Given the description of an element on the screen output the (x, y) to click on. 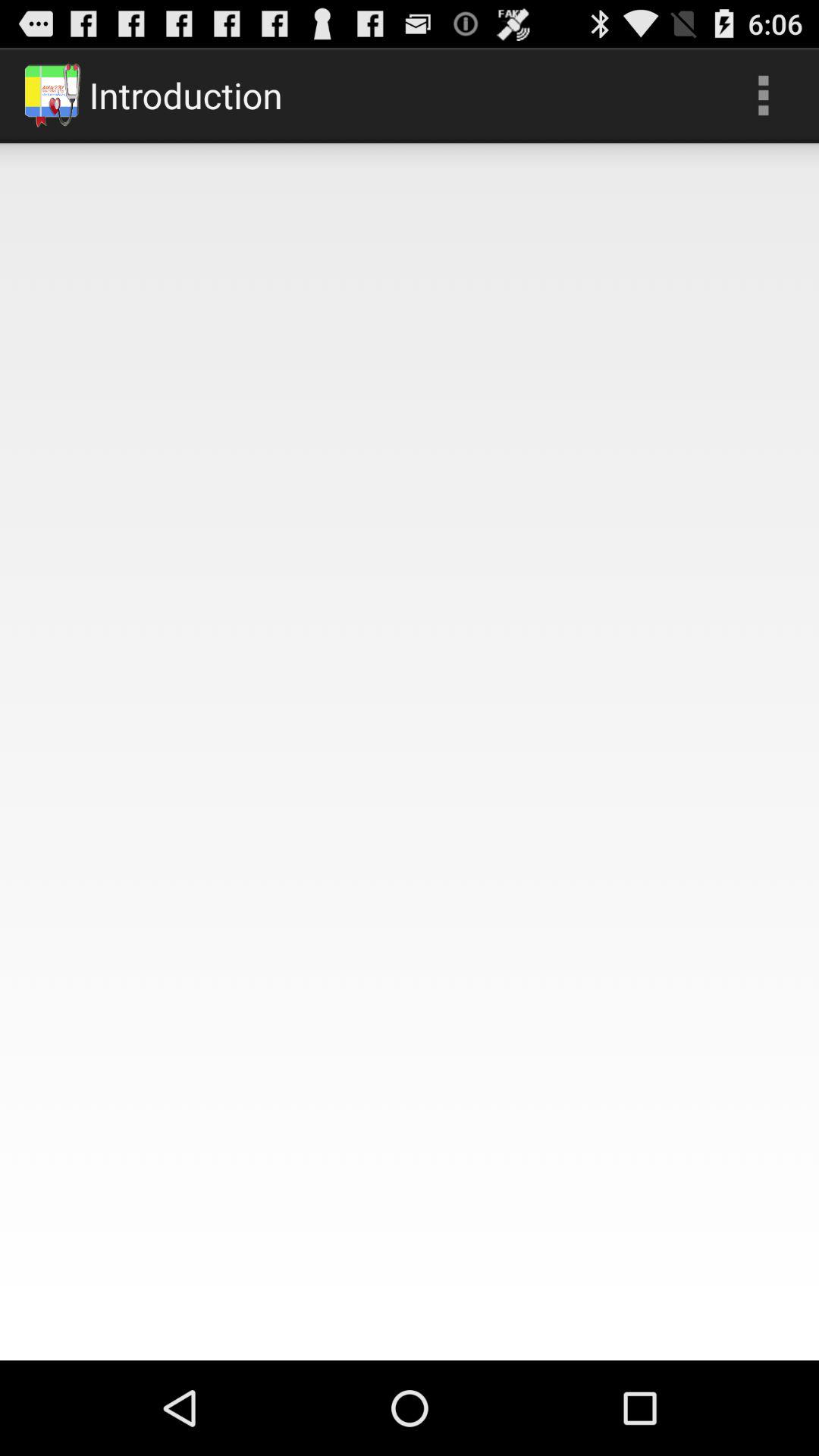
choose item to the right of introduction app (763, 95)
